Given the description of an element on the screen output the (x, y) to click on. 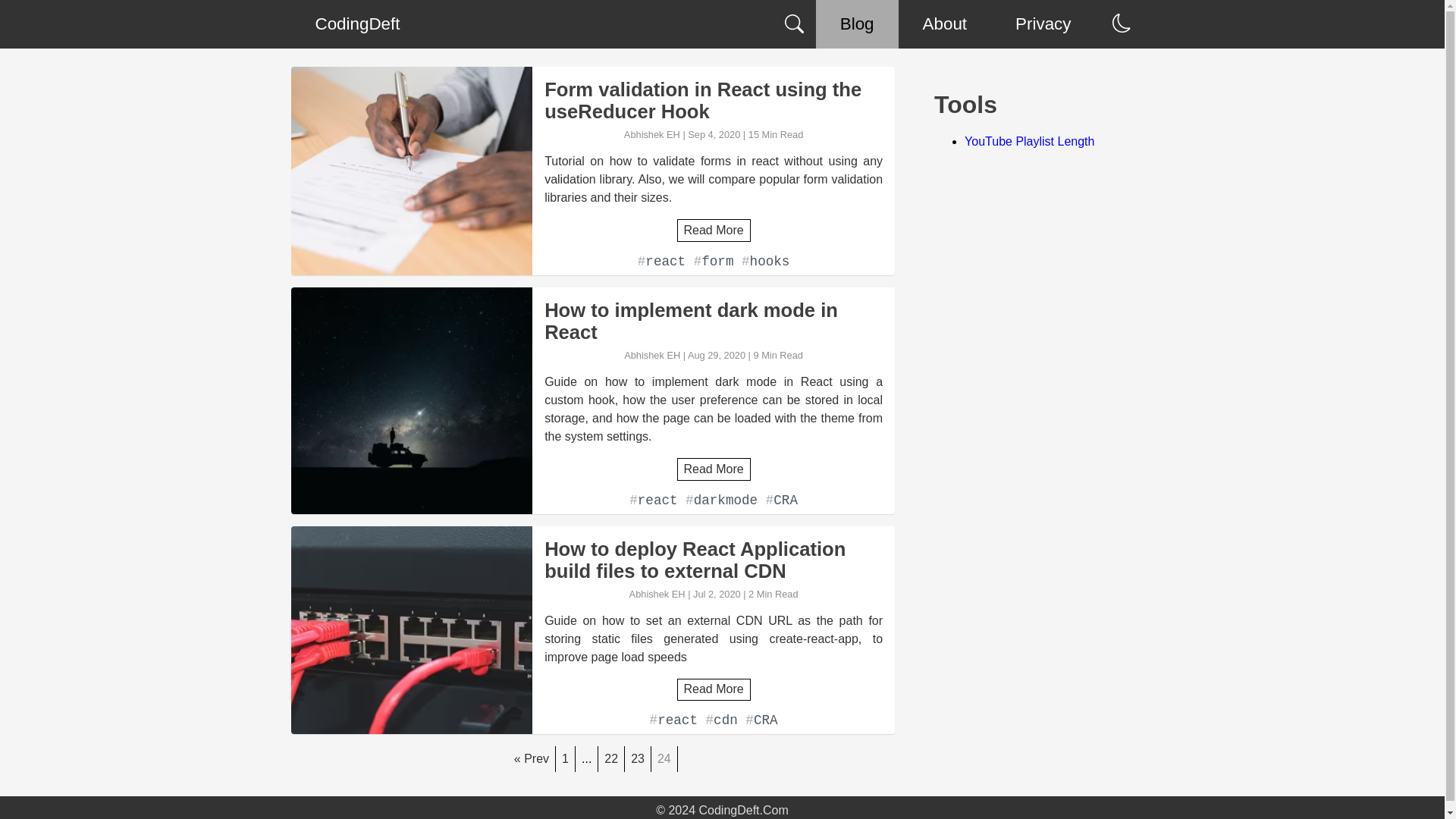
1 (565, 758)
About (944, 24)
YouTube Playlist Length (1028, 141)
How to deploy React Application build files to external CDN (713, 560)
Read More (714, 229)
Form validation in React using the useReducer Hook (713, 100)
Read More (714, 688)
23 (637, 758)
22 (611, 758)
Switch to Dark Mode (1120, 23)
CodingDeft (357, 24)
Read More (714, 468)
Switch to Dark Mode (1121, 22)
How to implement dark mode in React (713, 321)
Blog (856, 24)
